Given the description of an element on the screen output the (x, y) to click on. 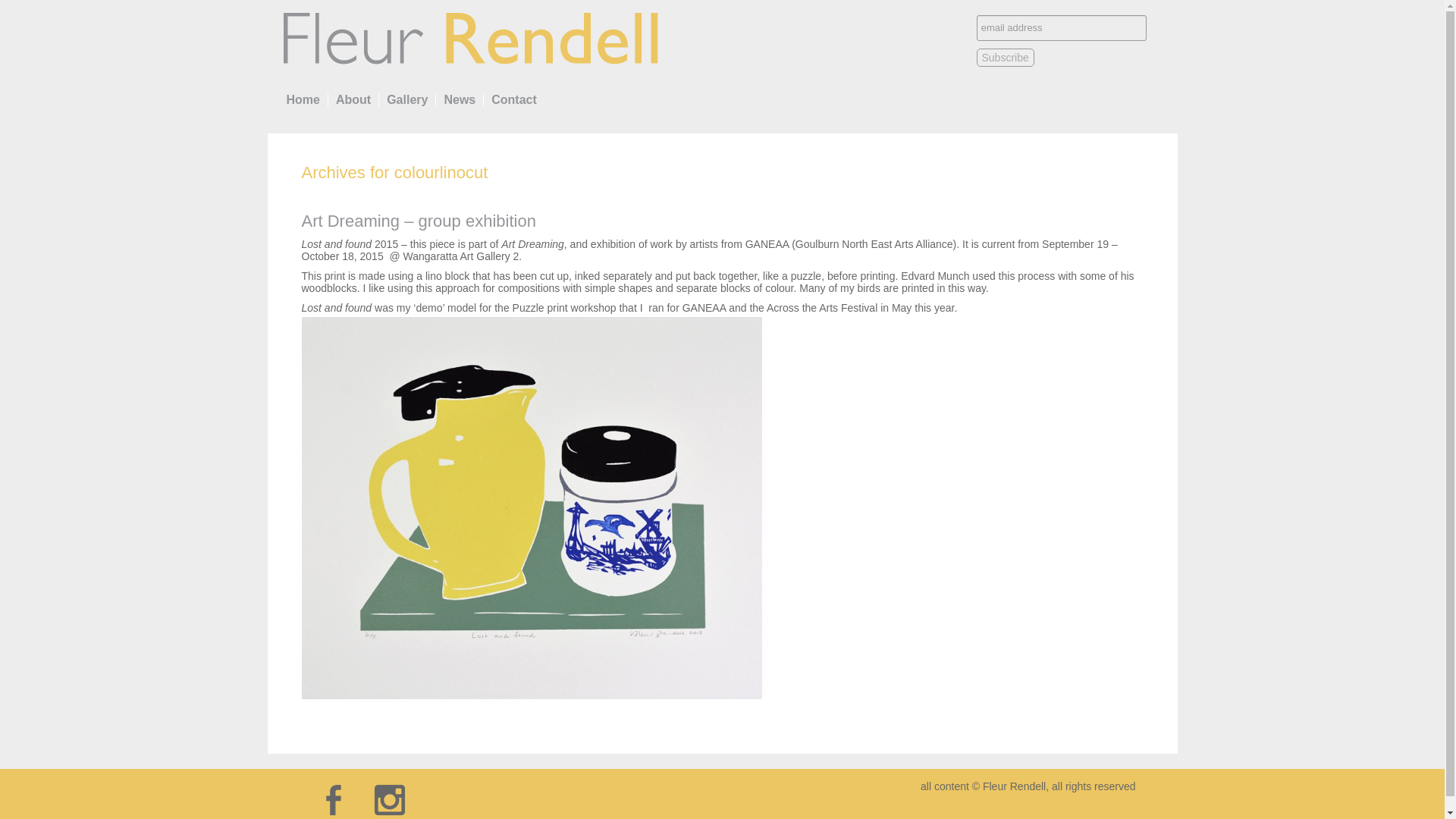
About (352, 99)
Gallery (406, 99)
News (459, 99)
web design by redsally (1077, 806)
Contact (513, 99)
Subscribe (1004, 57)
Home (302, 99)
Subscribe (1004, 57)
